Given the description of an element on the screen output the (x, y) to click on. 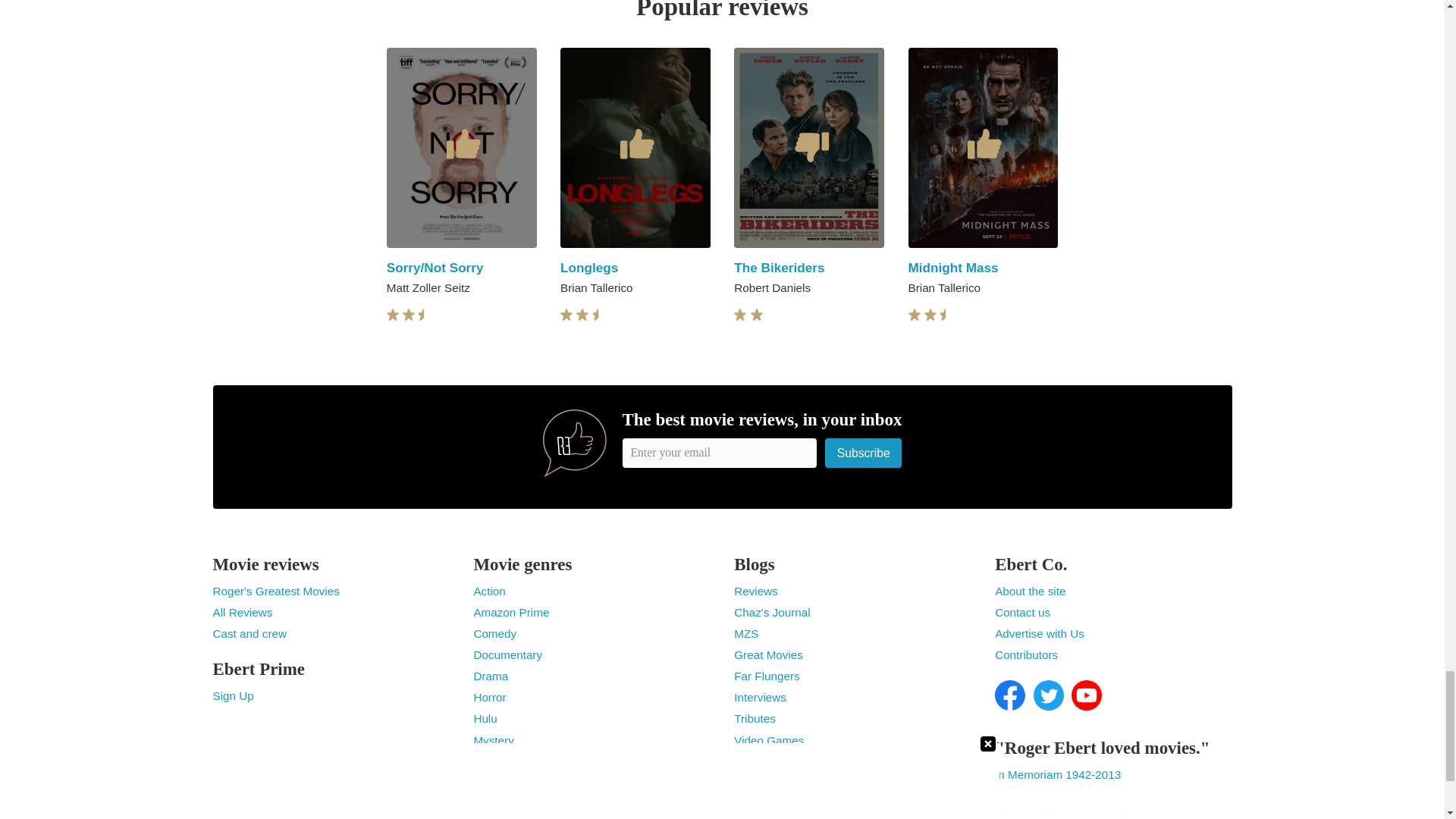
Subscribe (863, 452)
